Given the description of an element on the screen output the (x, y) to click on. 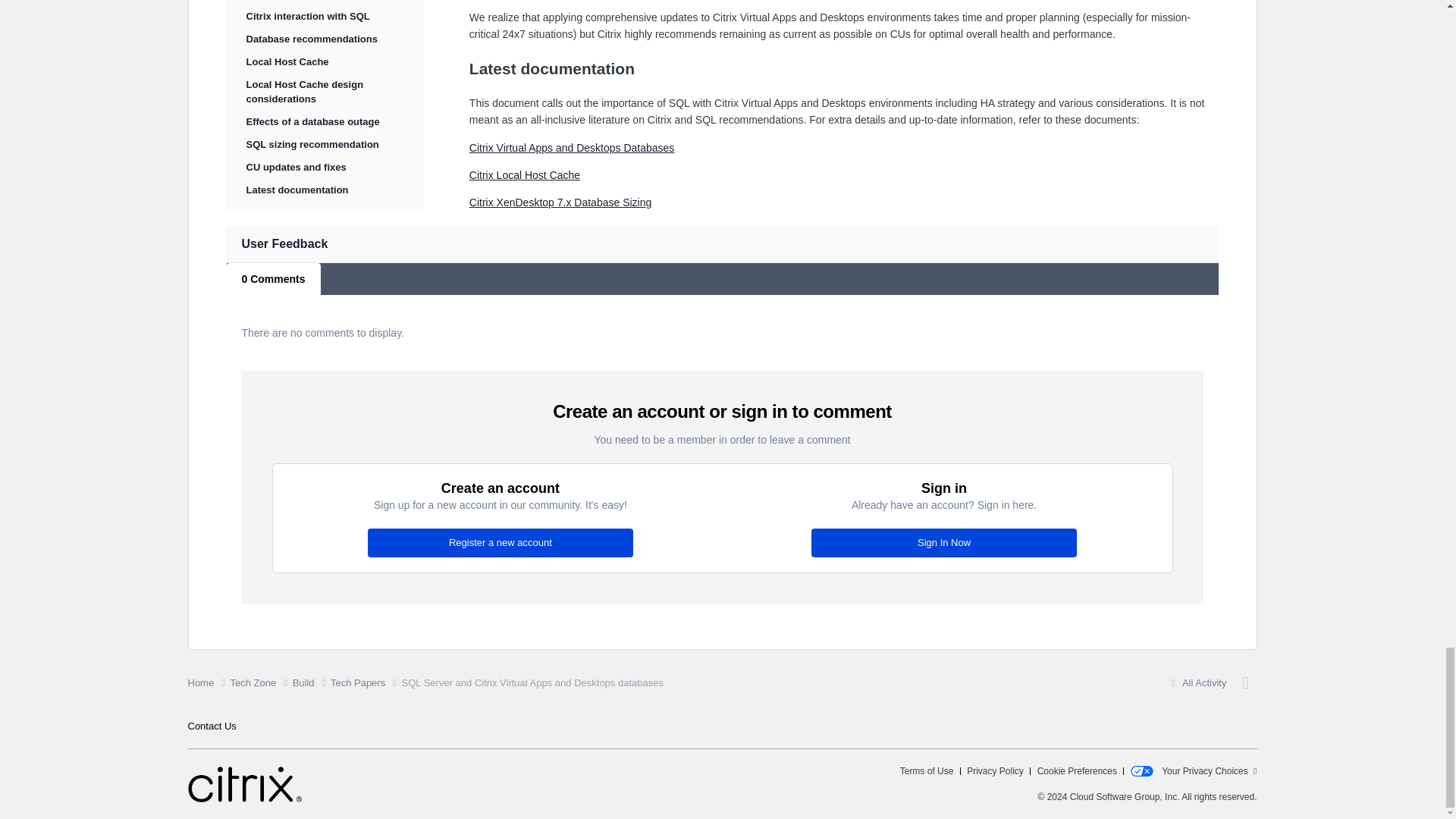
Home (208, 683)
Available RSS feeds (1244, 682)
0 Comments (272, 278)
